Given the description of an element on the screen output the (x, y) to click on. 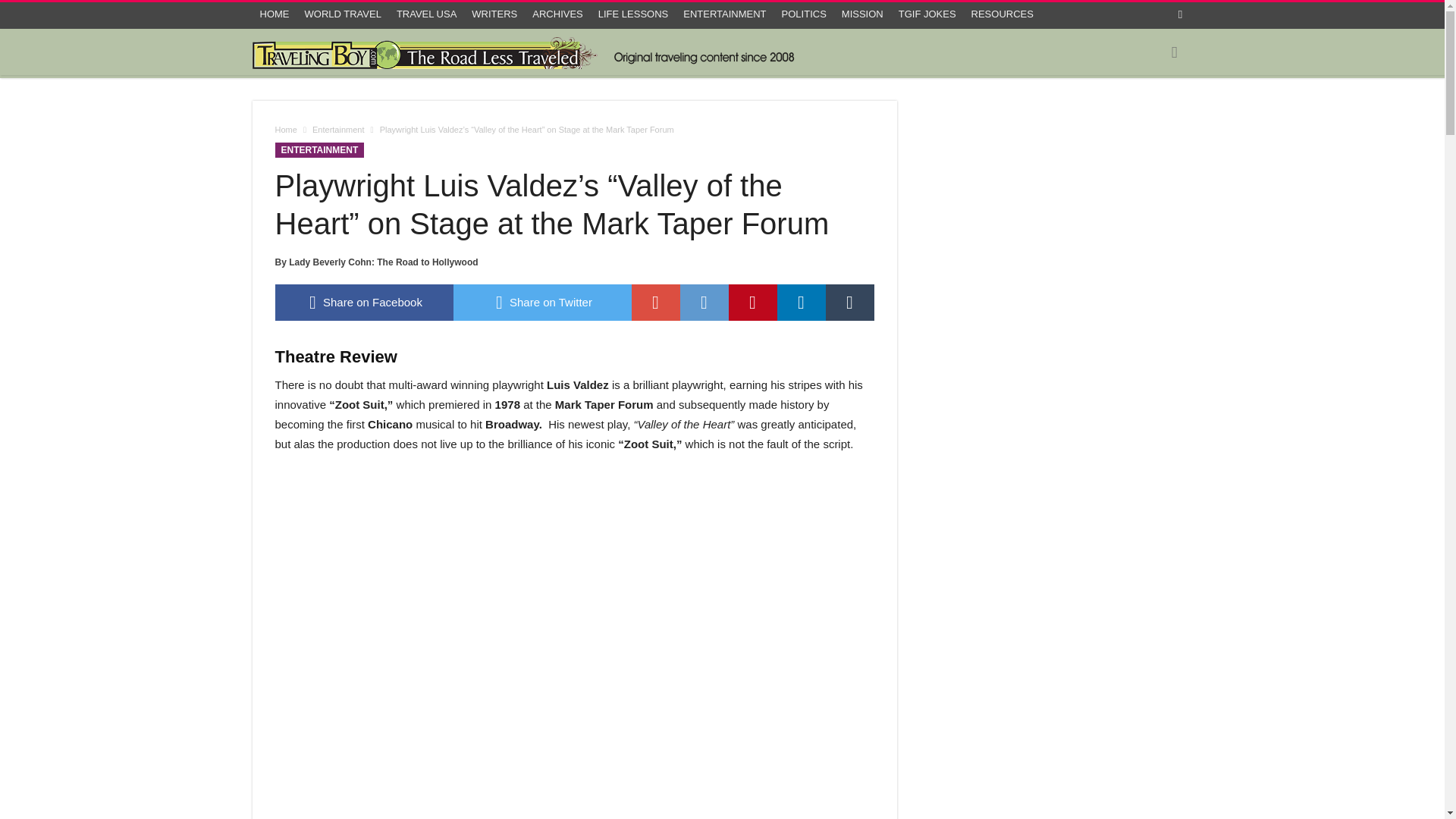
POLITICS (804, 14)
RESOURCES (1002, 14)
MISSION (862, 14)
pinterest (752, 302)
tumblr (849, 302)
WORLD TRAVEL (342, 14)
ARCHIVES (556, 14)
LIFE LESSONS (633, 14)
TRAVEL USA (426, 14)
HOME (274, 14)
twitter (541, 302)
google (654, 302)
WRITERS (494, 14)
reddit (703, 302)
linkedin (800, 302)
